Given the description of an element on the screen output the (x, y) to click on. 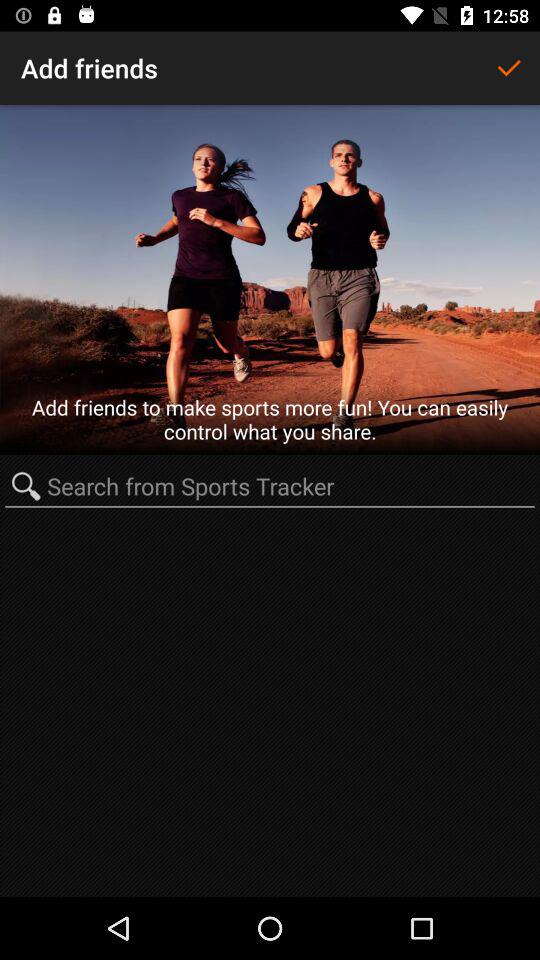
turn off the icon at the top right corner (508, 67)
